Given the description of an element on the screen output the (x, y) to click on. 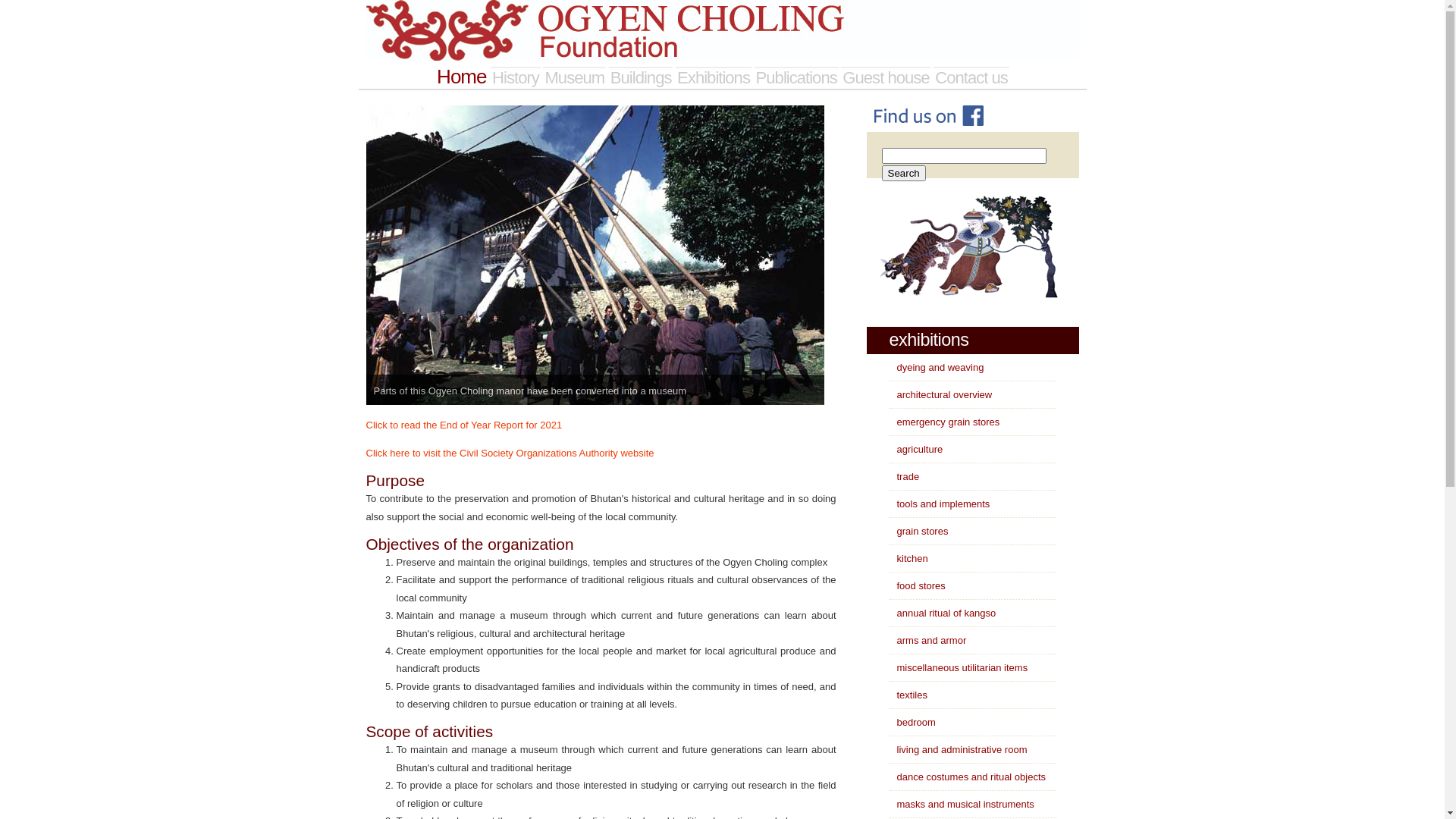
masks and musical instruments Element type: text (960, 803)
agriculture Element type: text (915, 449)
living and administrative room Element type: text (957, 749)
tools and implements Element type: text (938, 503)
annual ritual of kangso Element type: text (941, 612)
Publications Element type: text (796, 76)
food stores Element type: text (916, 585)
dyeing and weaving Element type: text (935, 367)
History Element type: text (515, 76)
dance costumes and ritual objects Element type: text (966, 776)
emergency grain stores Element type: text (943, 421)
Exhibitions Element type: text (713, 76)
grain stores Element type: text (917, 530)
Home Element type: text (461, 76)
kitchen Element type: text (907, 558)
Buildings Element type: text (640, 76)
textiles Element type: text (907, 694)
trade Element type: text (903, 476)
Guest house Element type: text (885, 76)
Museum Element type: text (573, 76)
arms and armor Element type: text (927, 640)
Search Element type: text (903, 173)
Click to read the End of Year Report for 2021 Element type: text (463, 424)
miscellaneous utilitarian items Element type: text (957, 667)
Contact us Element type: text (971, 76)
bedroom Element type: text (911, 722)
architectural overview Element type: text (939, 394)
